Given the description of an element on the screen output the (x, y) to click on. 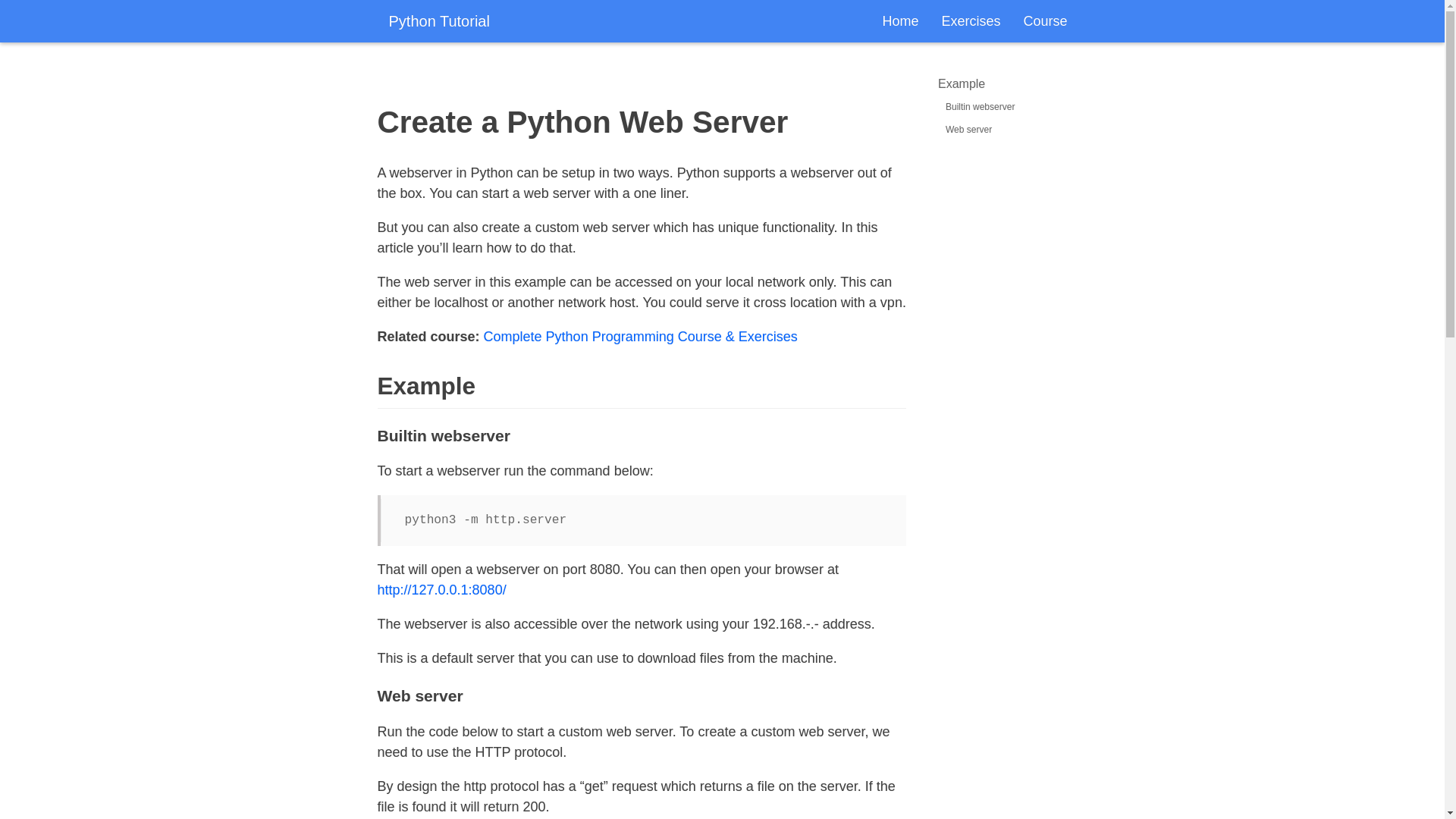
Example (961, 83)
Builtin webserver (979, 106)
Home (900, 21)
Web server (967, 129)
Python Tutorial (438, 21)
Course (1044, 21)
Exercises (970, 21)
